Given the description of an element on the screen output the (x, y) to click on. 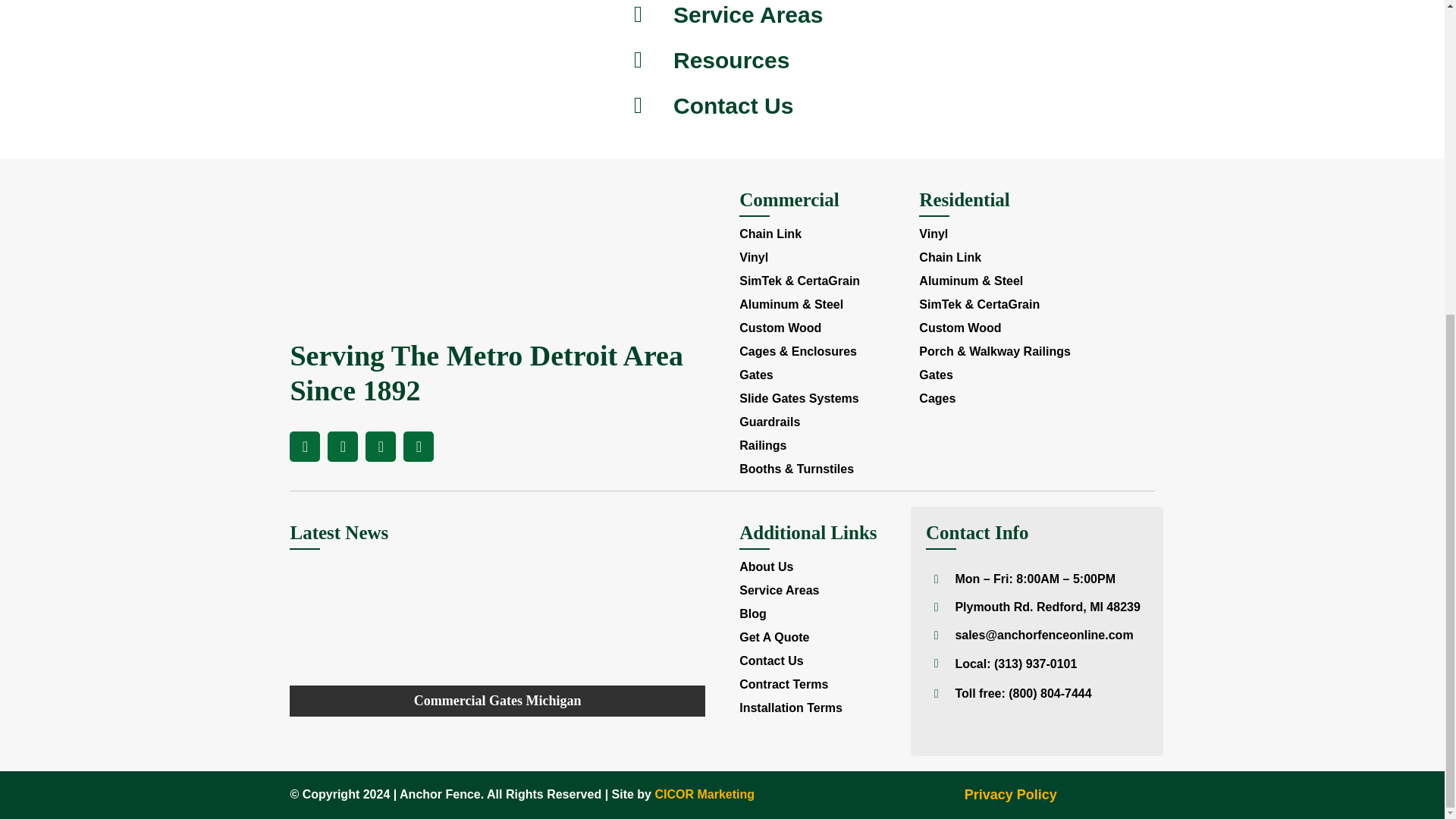
Logo-Anchor-Fence (440, 263)
Instagram (418, 446)
Facebook (304, 446)
YouTube (380, 446)
X (342, 446)
